Given the description of an element on the screen output the (x, y) to click on. 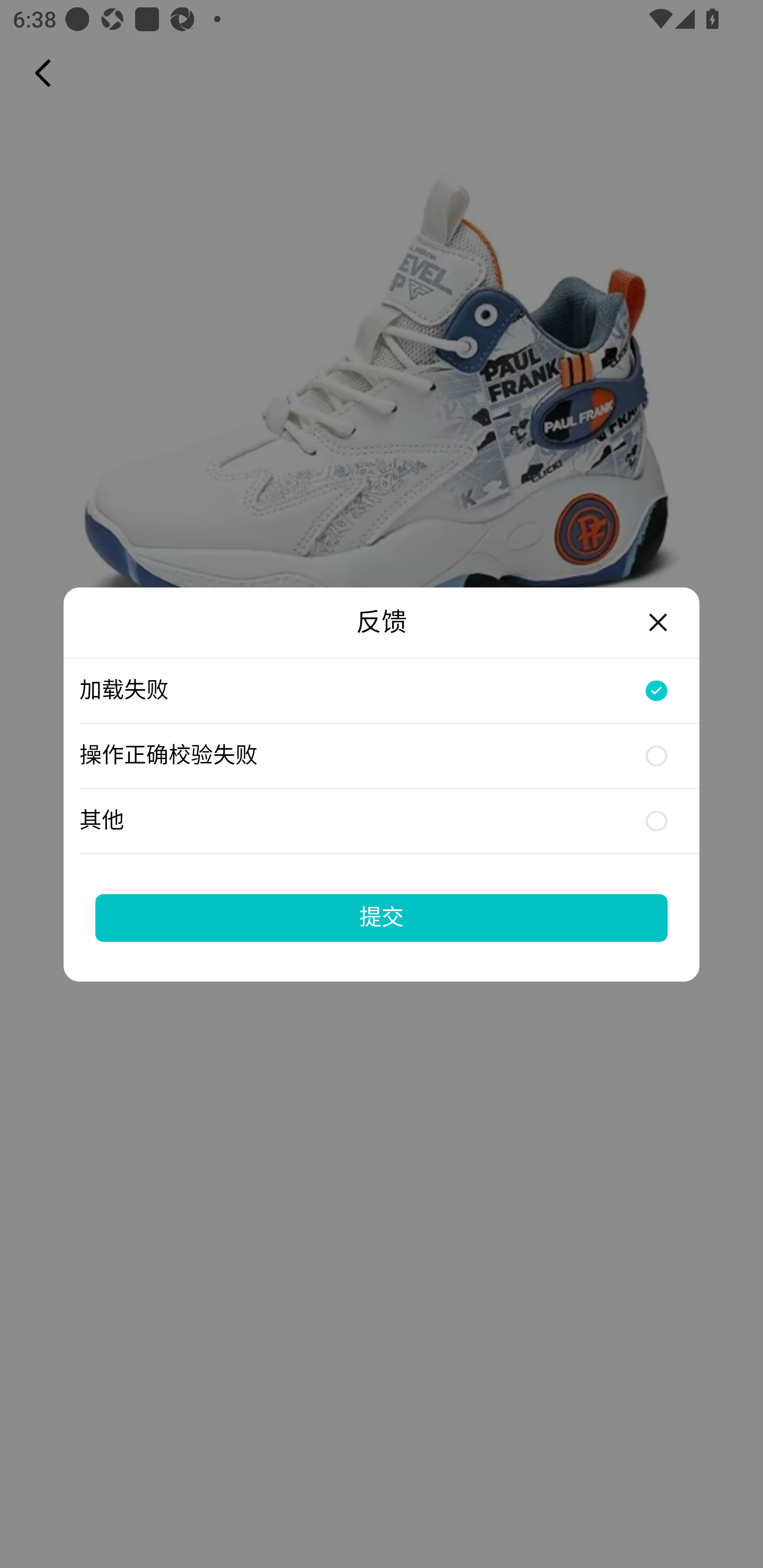
提交 (381, 917)
